Given the description of an element on the screen output the (x, y) to click on. 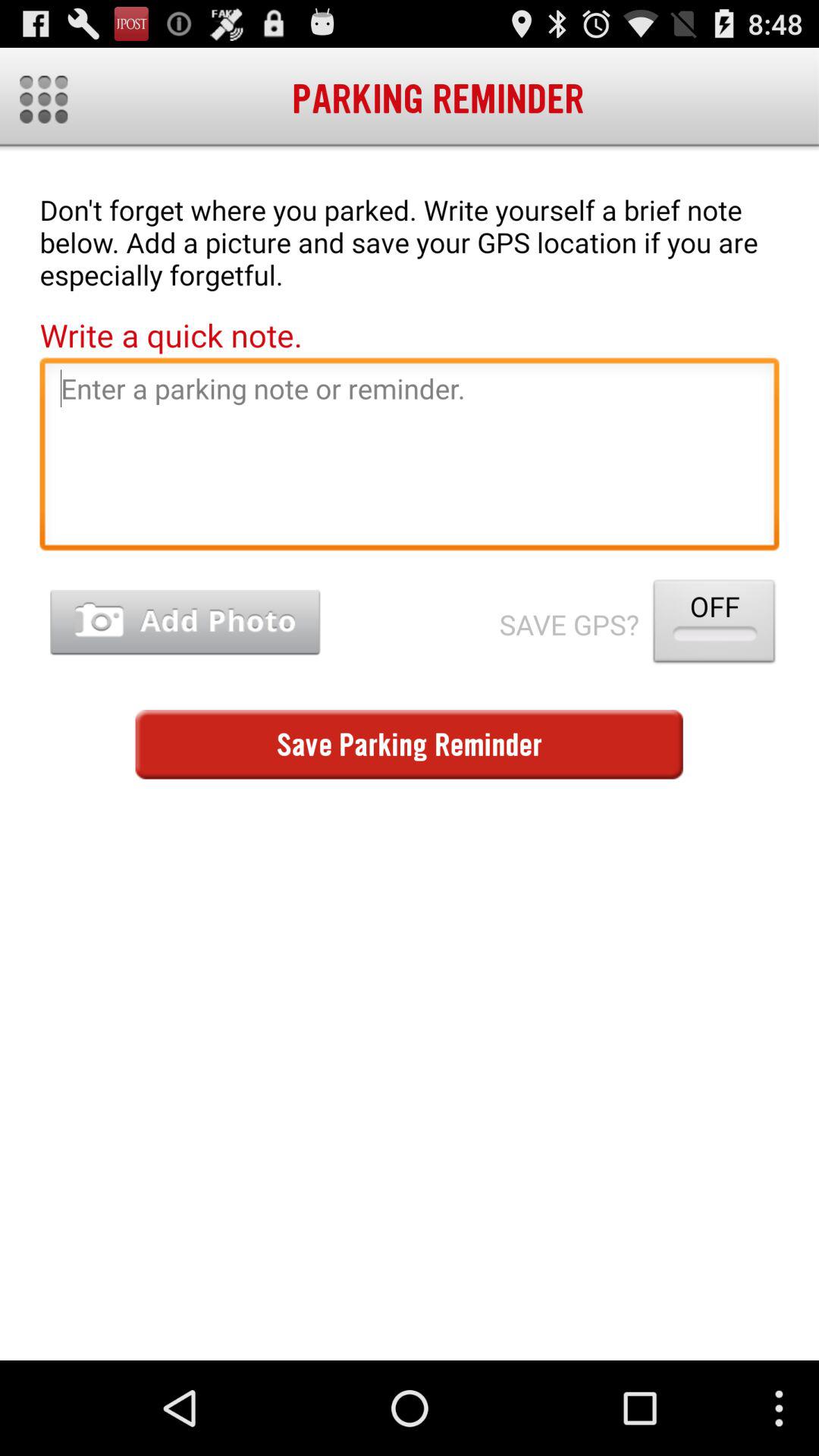
view all (43, 99)
